Given the description of an element on the screen output the (x, y) to click on. 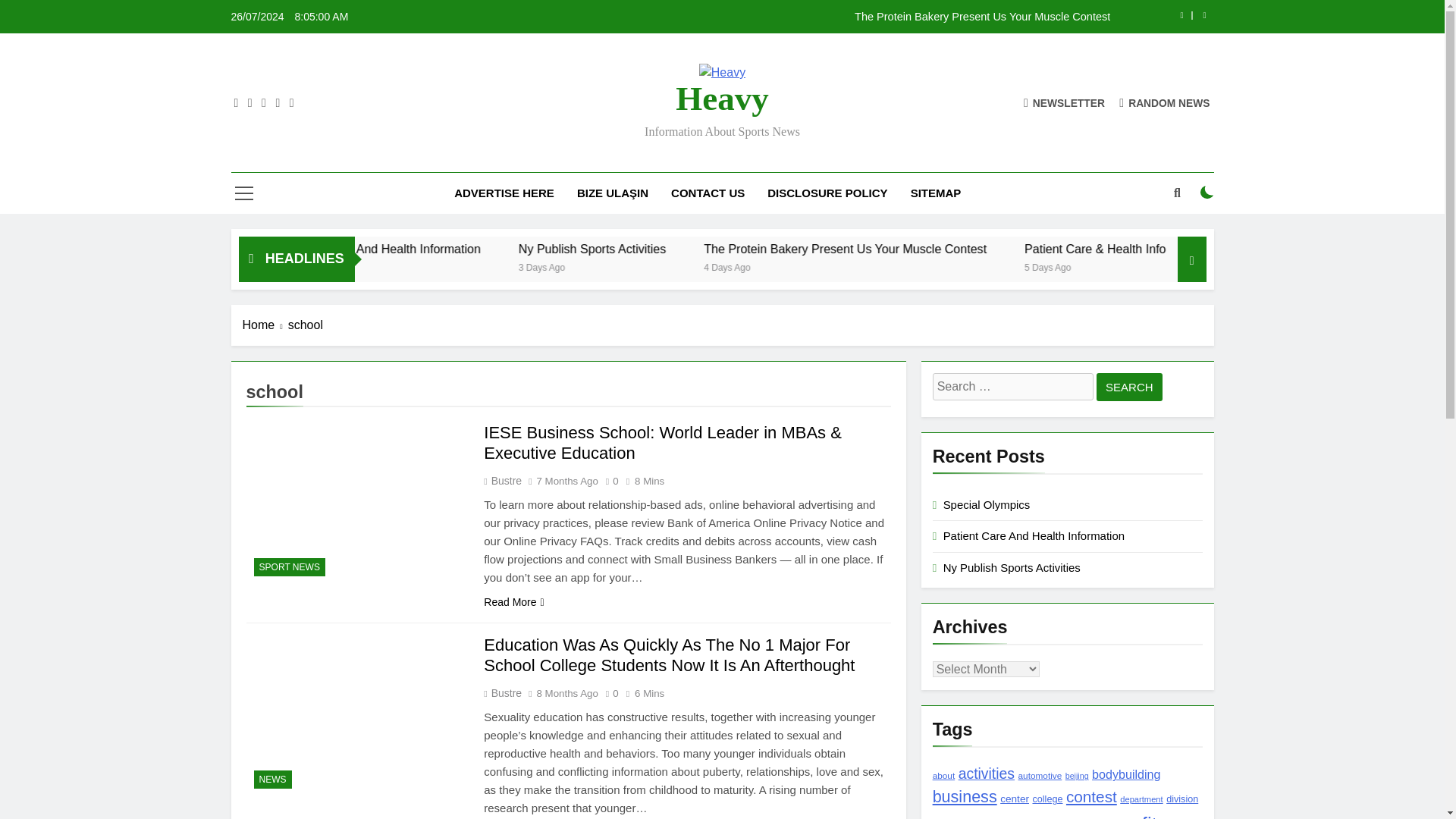
4 Days Ago (870, 266)
Patient Care And Health Information (536, 248)
ADVERTISE HERE (504, 192)
Ny Publish Sports Activities (716, 248)
Special Olympics (357, 248)
Special Olympics (330, 248)
RANDOM NEWS (1164, 101)
5 Days Ago (1186, 266)
14 Hours Ago (336, 266)
SITEMAP (935, 192)
3 Days Ago (688, 266)
The Protein Bakery Present Us Your Muscle Contest (817, 16)
NEWSLETTER (1064, 101)
Patient Care And Health Information (509, 248)
2 Days Ago (460, 266)
